Given the description of an element on the screen output the (x, y) to click on. 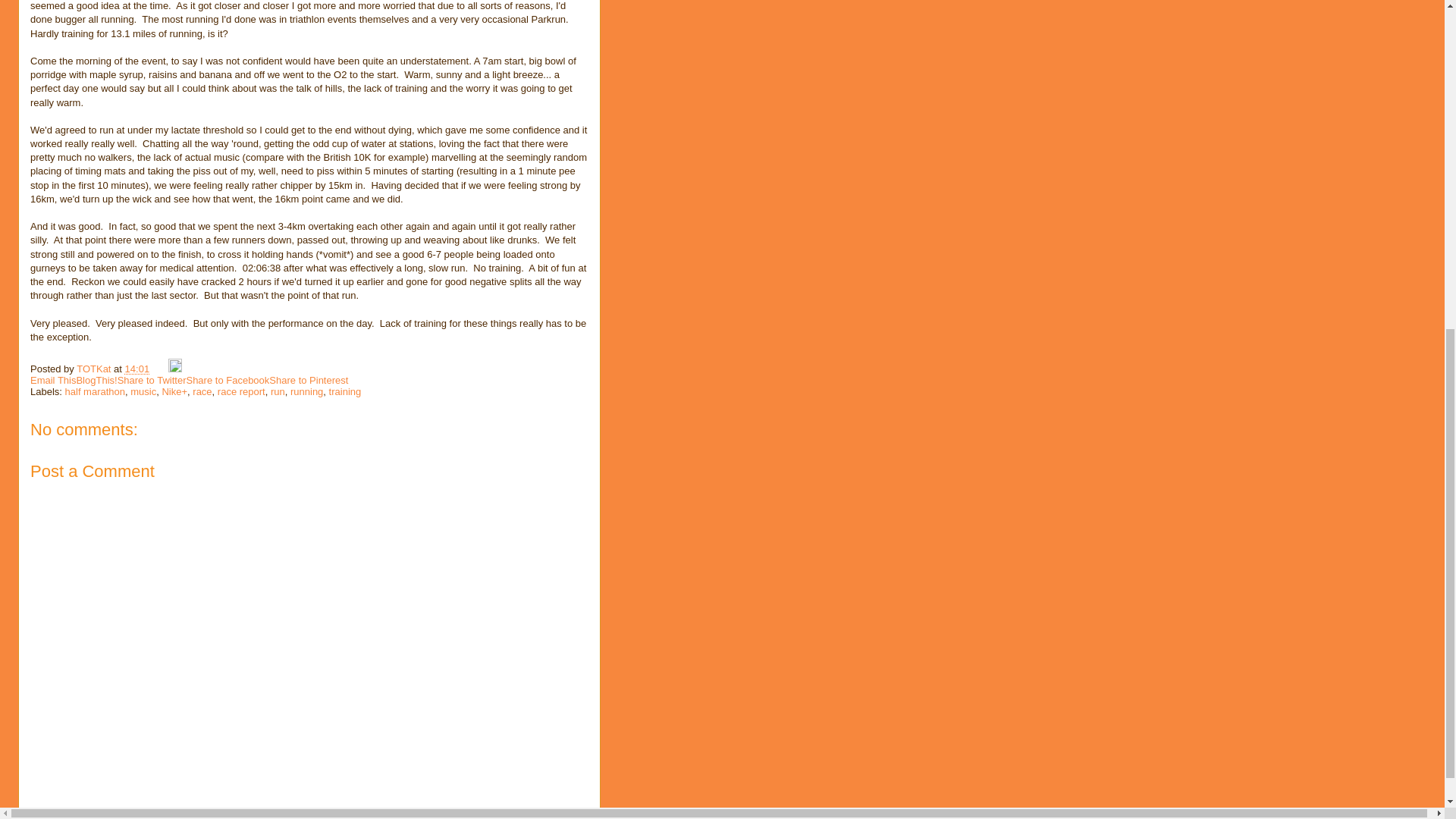
Edit Post (175, 368)
Share to Twitter (151, 379)
race report (240, 391)
training (345, 391)
running (306, 391)
Email This (52, 379)
race (201, 391)
author profile (95, 368)
Share to Pinterest (308, 379)
Share to Facebook (227, 379)
